Given the description of an element on the screen output the (x, y) to click on. 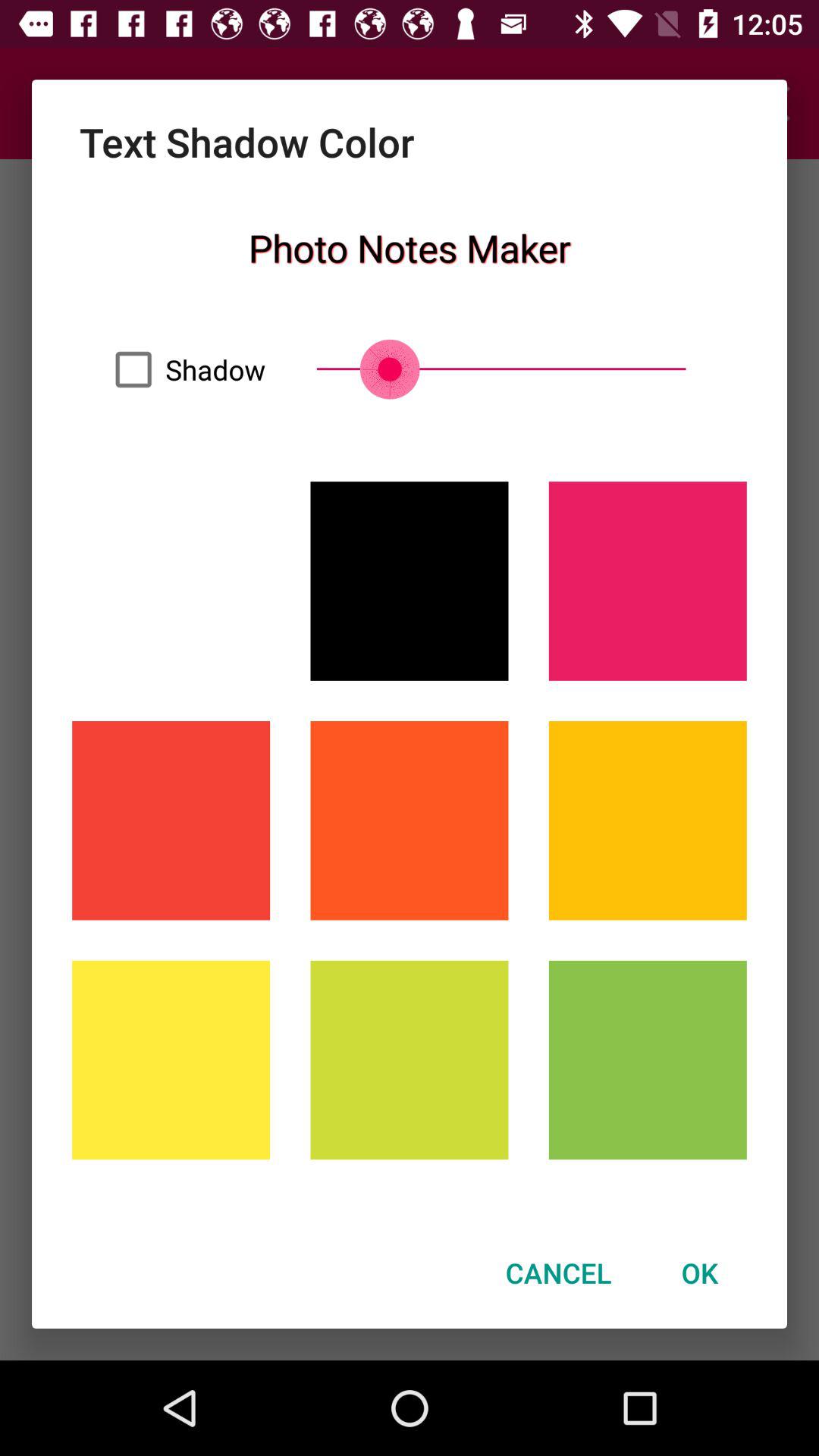
select item next to the cancel item (699, 1272)
